Given the description of an element on the screen output the (x, y) to click on. 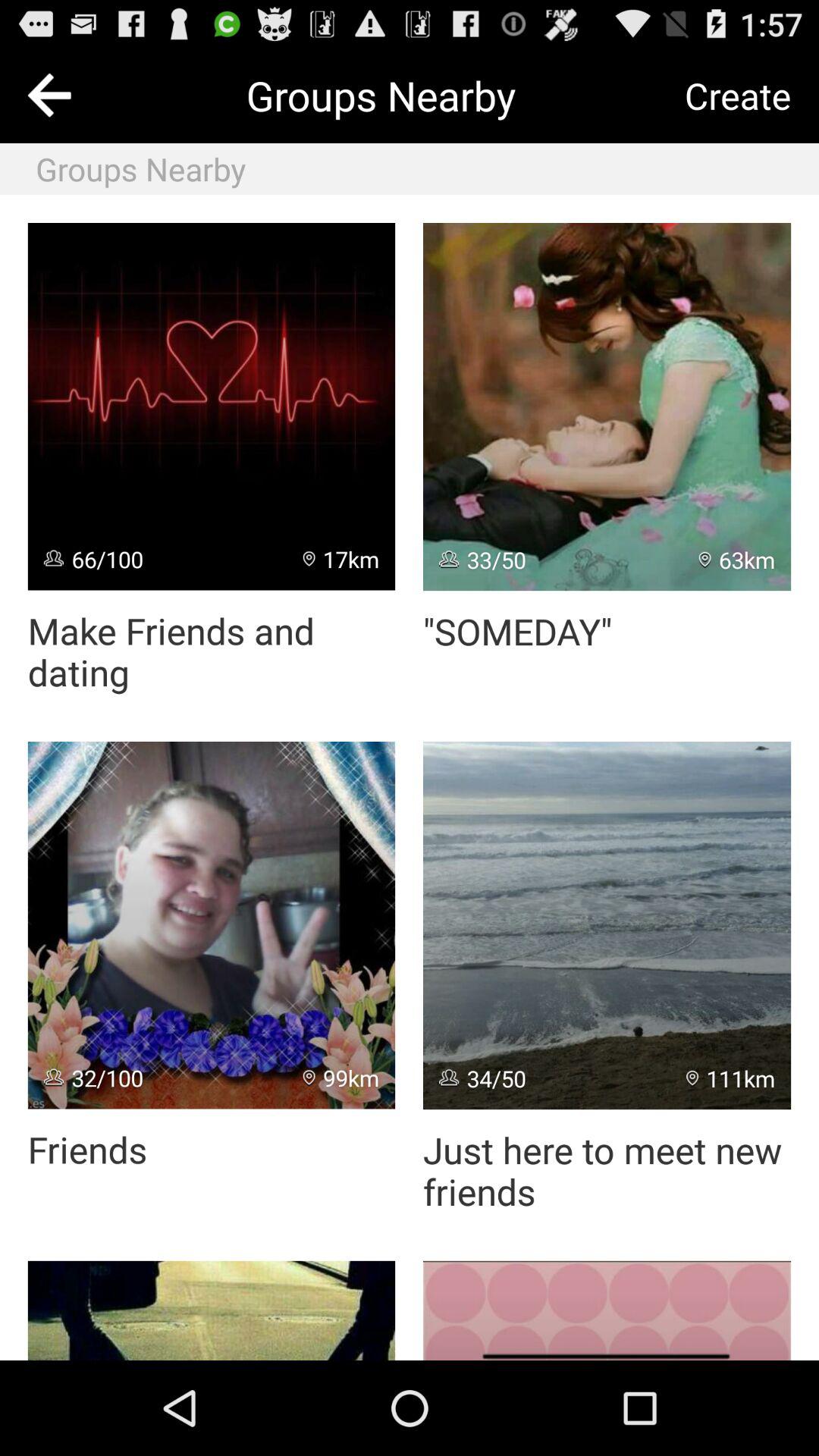
turn off 17km app (341, 558)
